Given the description of an element on the screen output the (x, y) to click on. 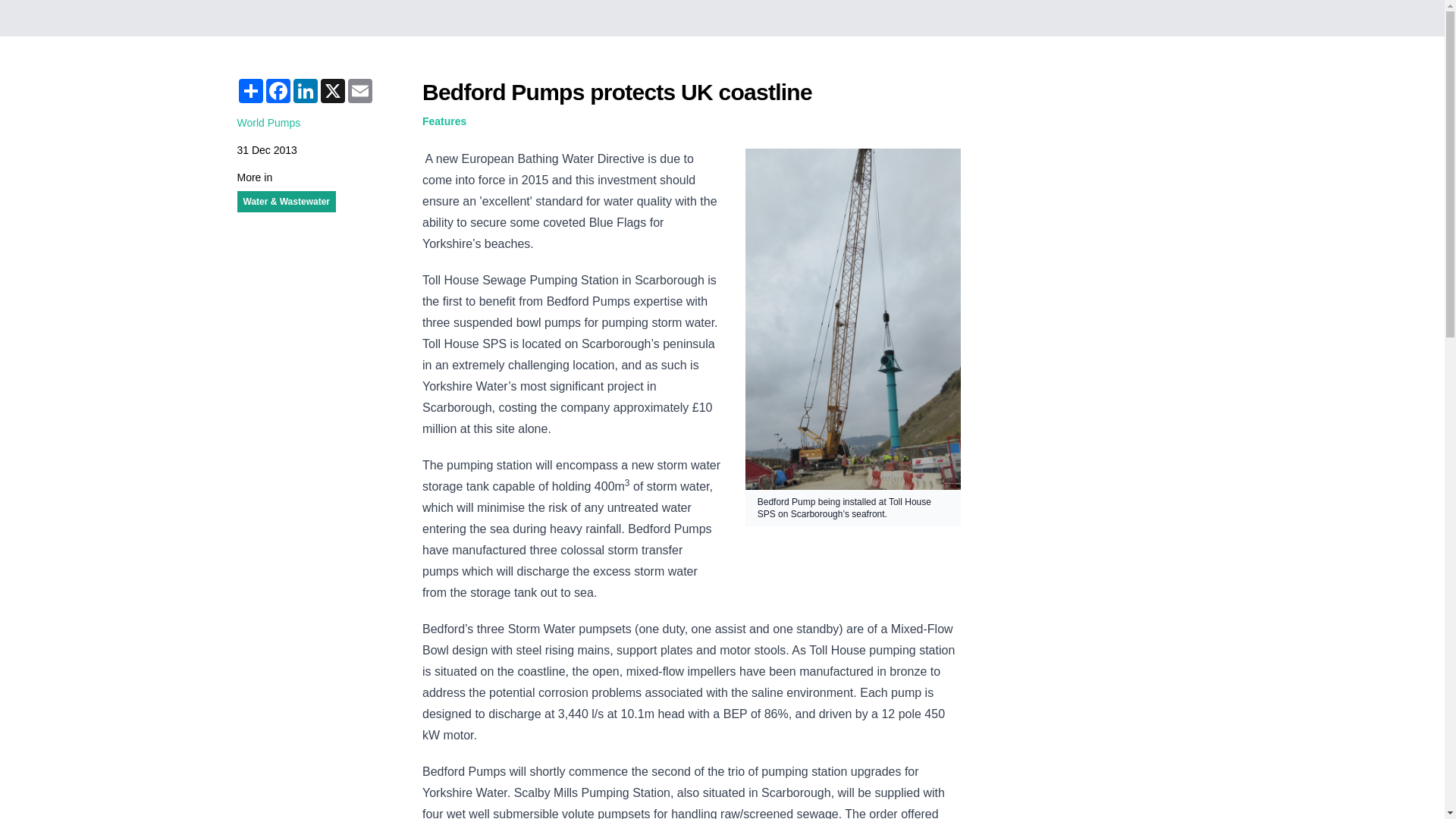
LinkedIn (304, 90)
Email (359, 90)
X (332, 90)
Share (249, 90)
Facebook (277, 90)
